Given the description of an element on the screen output the (x, y) to click on. 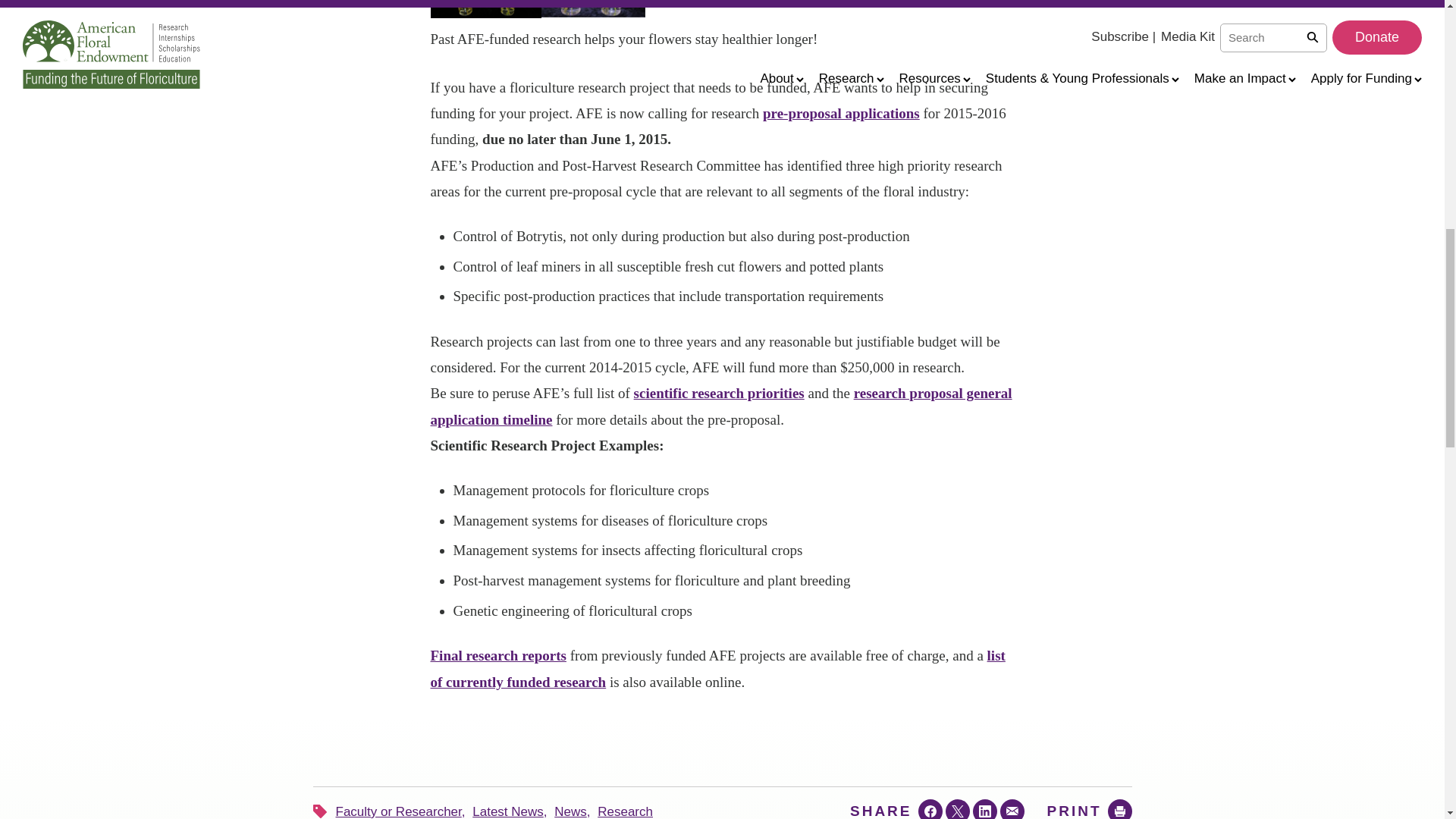
Research Priorities (719, 392)
Final Research Reports (498, 655)
Research Timeline (720, 405)
Currently Funded Research (718, 668)
